Given the description of an element on the screen output the (x, y) to click on. 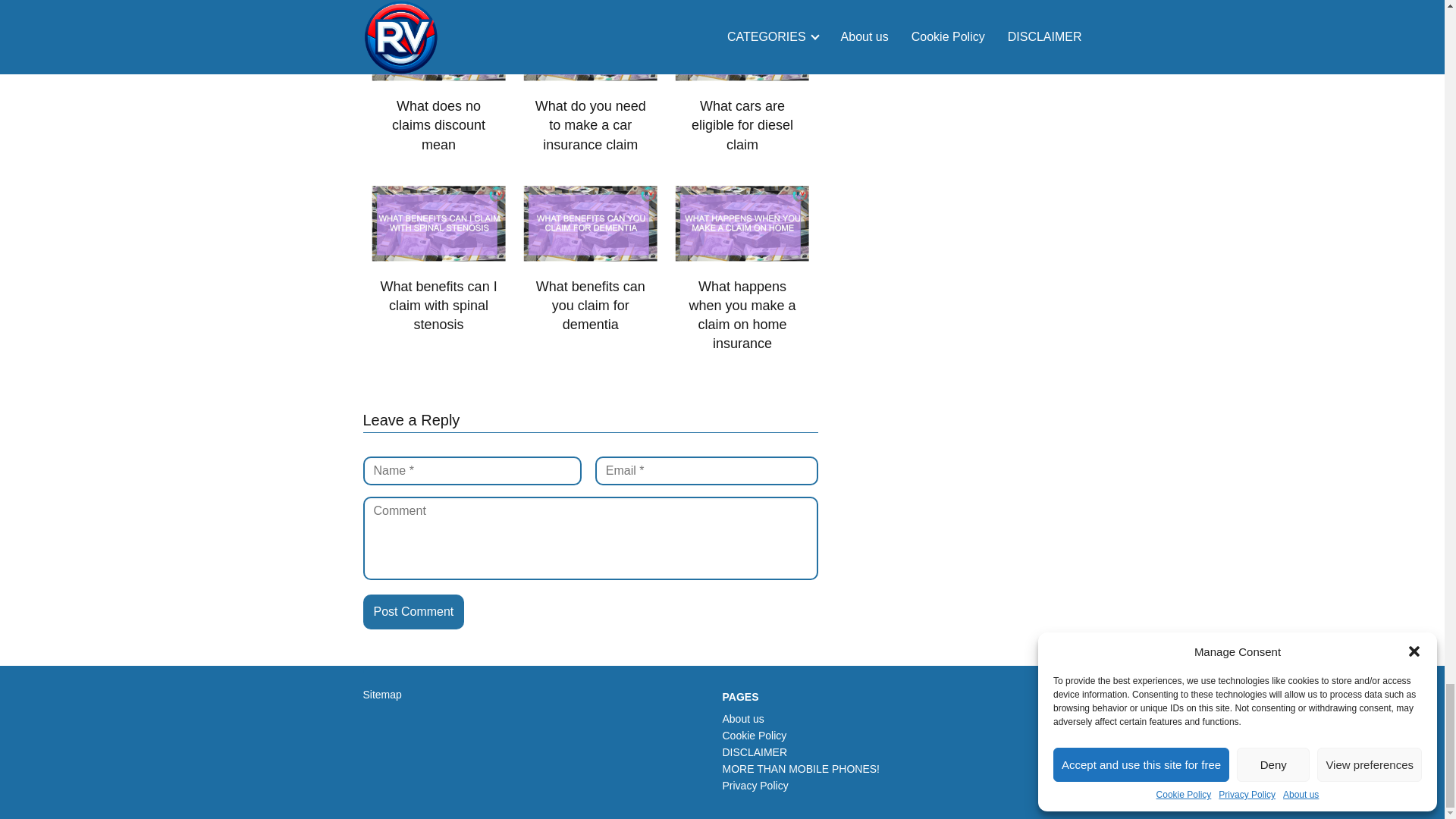
Post Comment (413, 611)
